Given the description of an element on the screen output the (x, y) to click on. 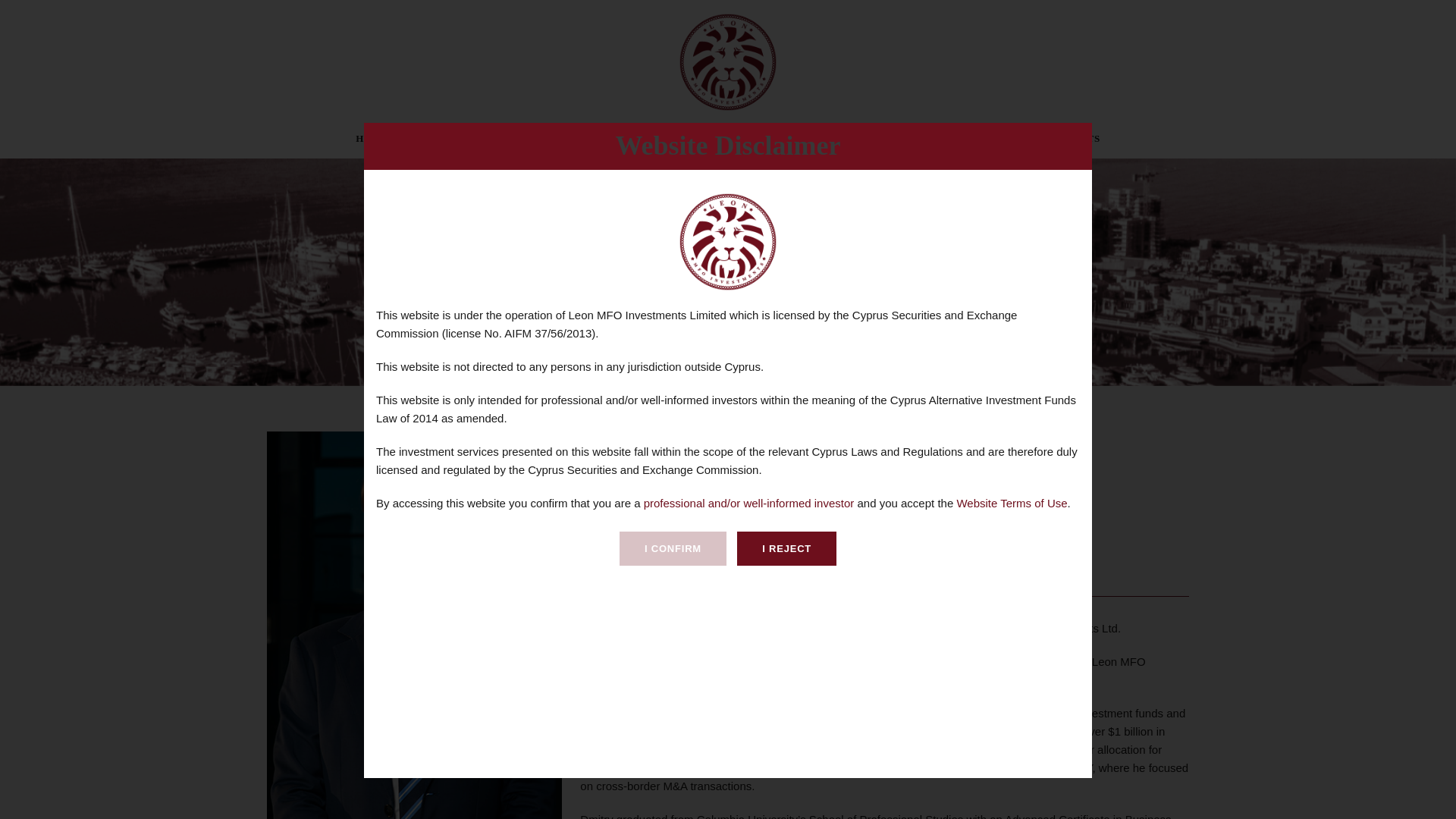
DISCLOSURES (967, 144)
CONTACTS (1070, 144)
HOME (371, 144)
OUR TEAM (707, 144)
COMPANY (452, 144)
SERVICES (544, 144)
CAREERS (799, 144)
I reject (785, 548)
FUNDS (624, 144)
logo (727, 62)
NEWS (878, 144)
I confirm (673, 548)
